Given the description of an element on the screen output the (x, y) to click on. 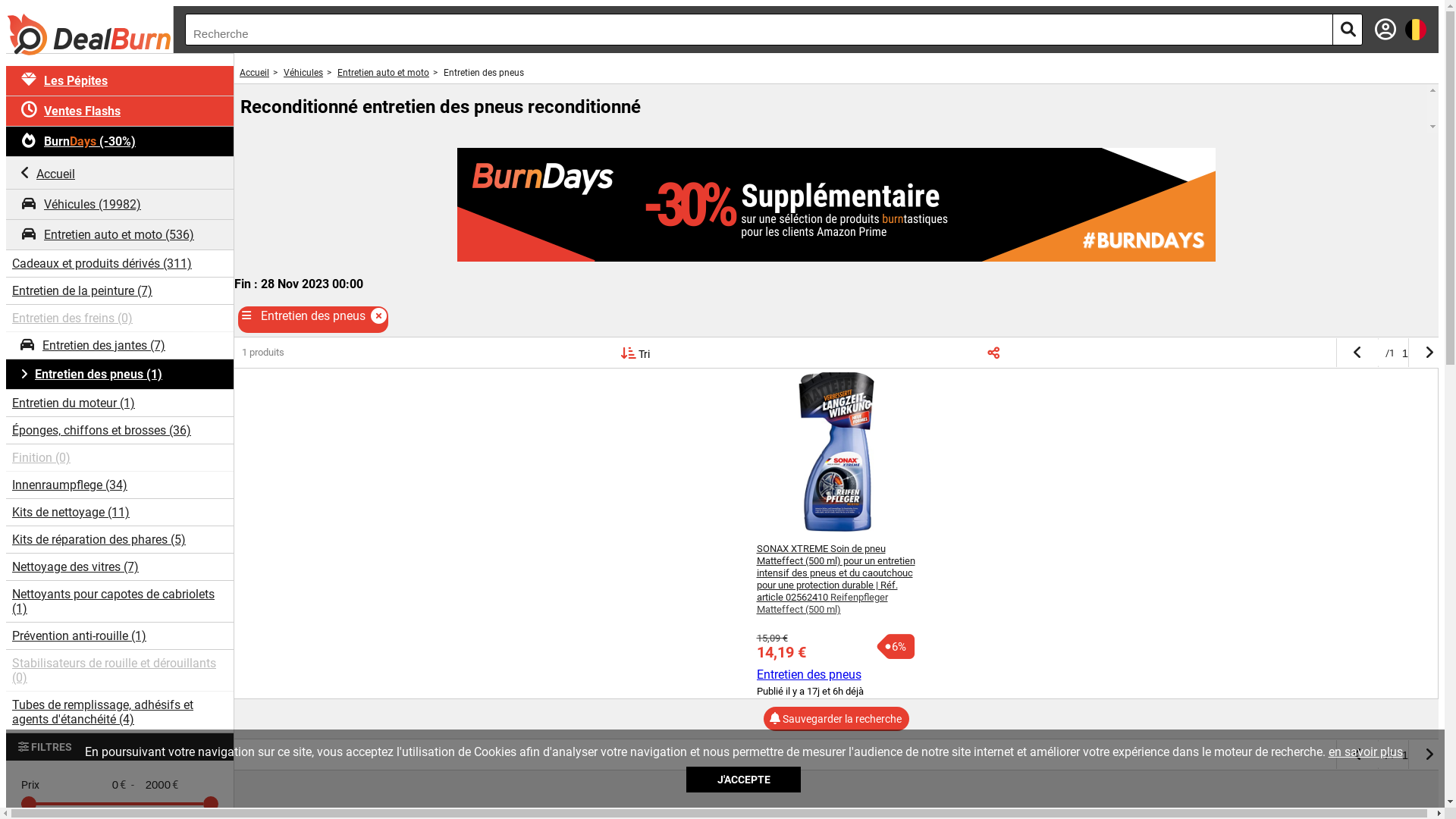
Entretien de la peinture (7) Element type: text (119, 290)
Innenraumpflege (34) Element type: text (119, 484)
Nettoyants pour capotes de cabriolets (1) Element type: text (119, 601)
Accueil Element type: text (119, 172)
BurnDays (-30%) Element type: text (119, 141)
Finition (0) Element type: text (119, 457)
Entretien des pneus Element type: text (808, 674)
Entretien des freins (0) Element type: text (119, 318)
en savoir plus Element type: text (1365, 751)
J'ACCEPTE Element type: text (743, 779)
Entretien des pneus Element type: text (484, 72)
Nettoyage des vitres (7) Element type: text (119, 566)
Entretien auto et moto (536) Element type: text (119, 234)
Entretien du moteur (1) Element type: text (119, 403)
Accueil Element type: text (254, 72)
Entretien des jantes (7) Element type: text (119, 345)
Ventes Flashs Element type: text (119, 111)
Entretien des pneus (1) Element type: text (119, 374)
Entretien auto et moto Element type: text (383, 72)
Kits de nettoyage (11) Element type: text (119, 512)
